Given the description of an element on the screen output the (x, y) to click on. 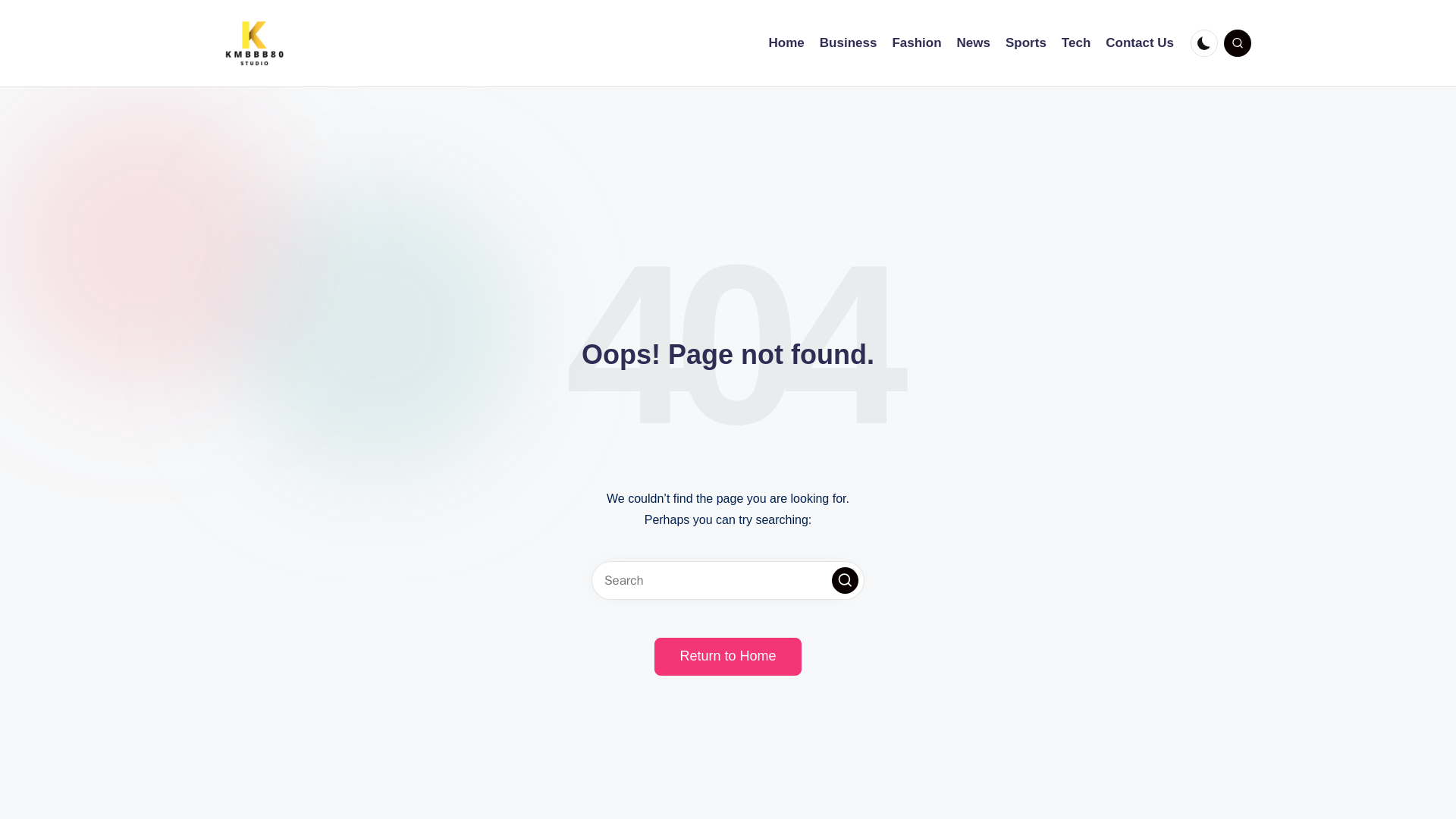
Business (848, 42)
Return to Home (726, 656)
Home (786, 42)
Fashion (915, 42)
Contact Us (1139, 42)
Tech (1075, 42)
News (973, 42)
Sports (1026, 42)
